Given the description of an element on the screen output the (x, y) to click on. 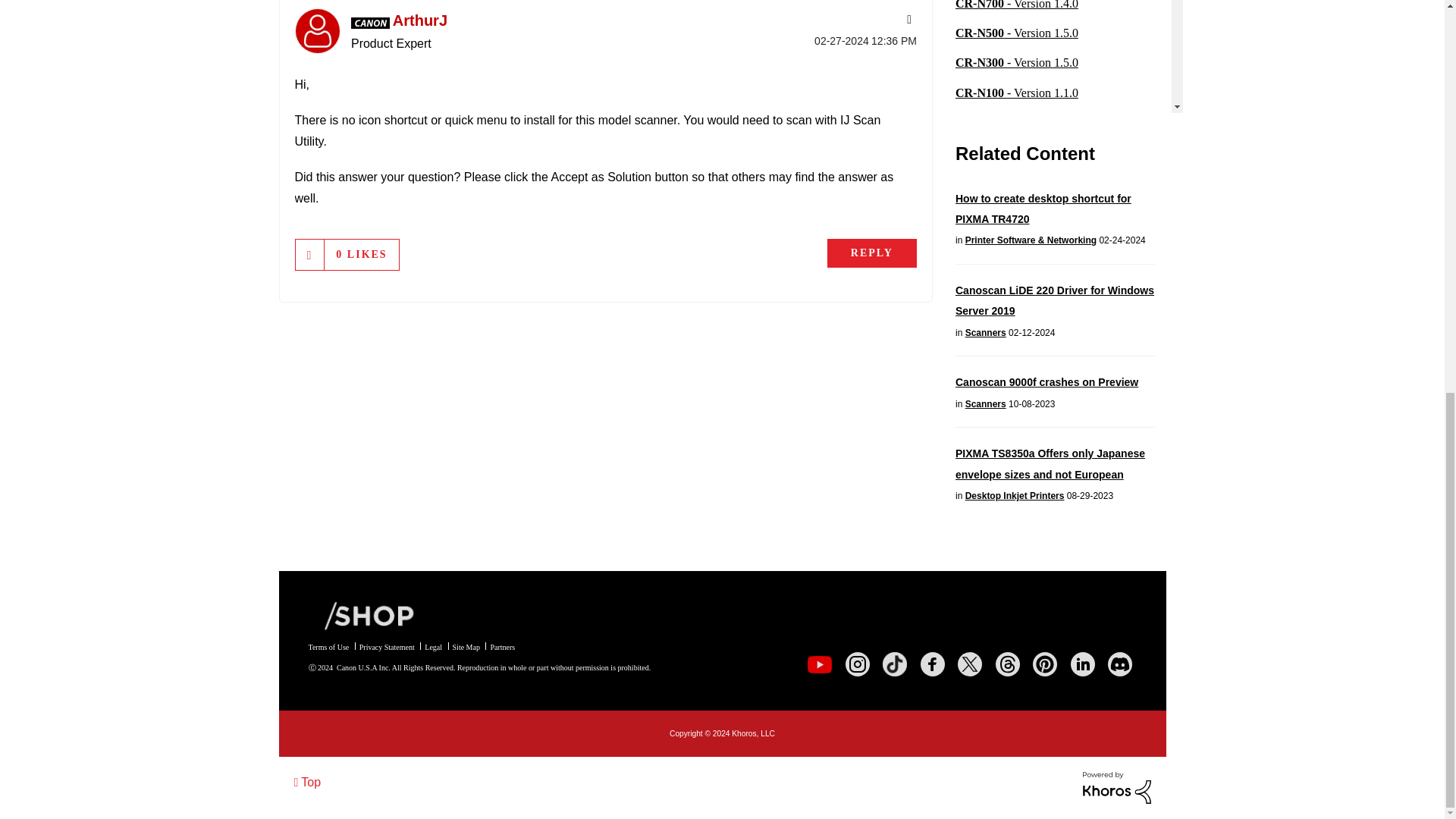
Top (307, 781)
Top (307, 781)
